Given the description of an element on the screen output the (x, y) to click on. 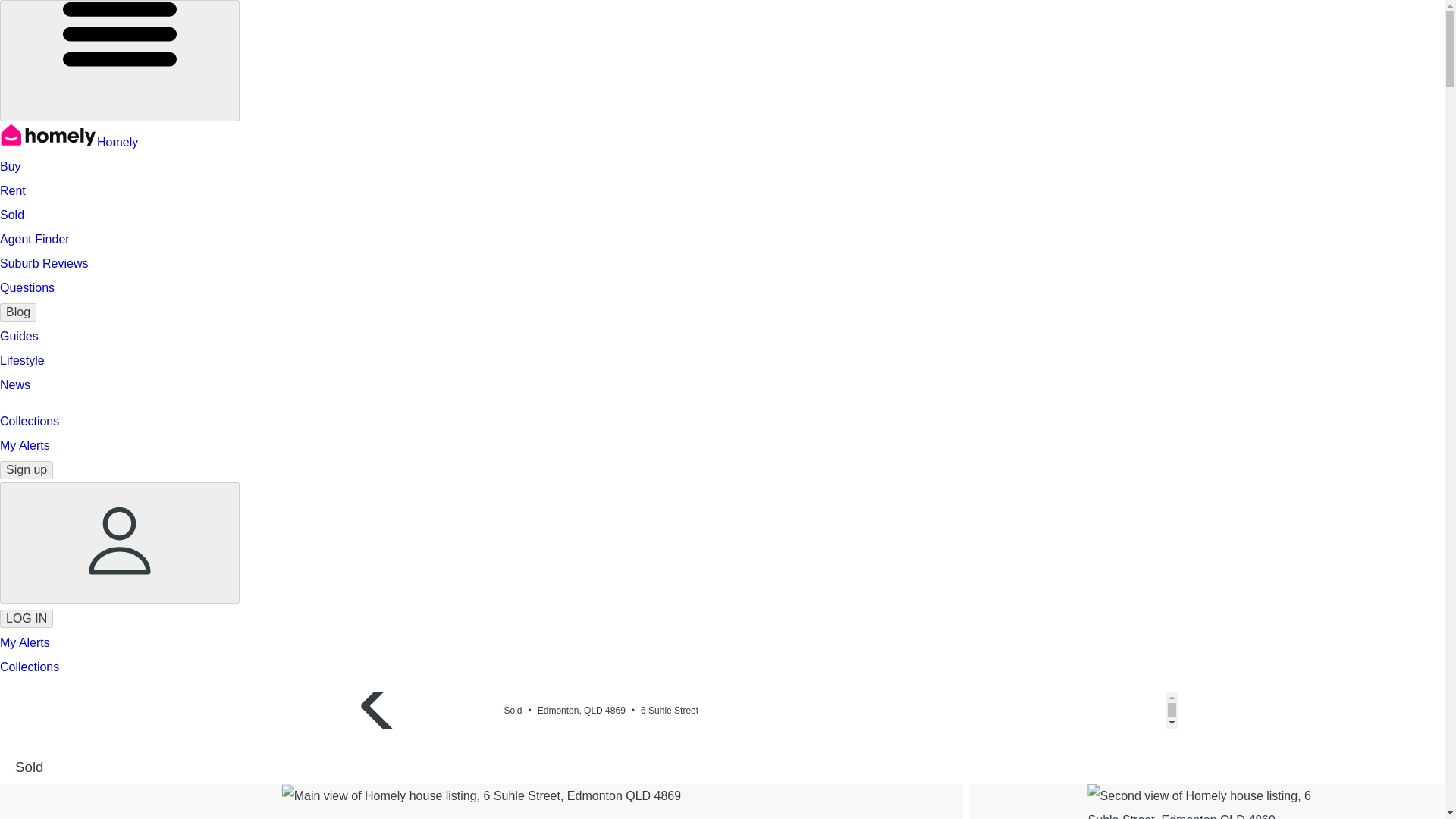
Blog (18, 312)
Collections (29, 420)
Questions (27, 287)
Sold (12, 214)
Rent (13, 190)
Log in (26, 618)
Guides (19, 336)
Back (380, 758)
Edmonton, QLD 4869 (588, 709)
Blog (18, 312)
